Given the description of an element on the screen output the (x, y) to click on. 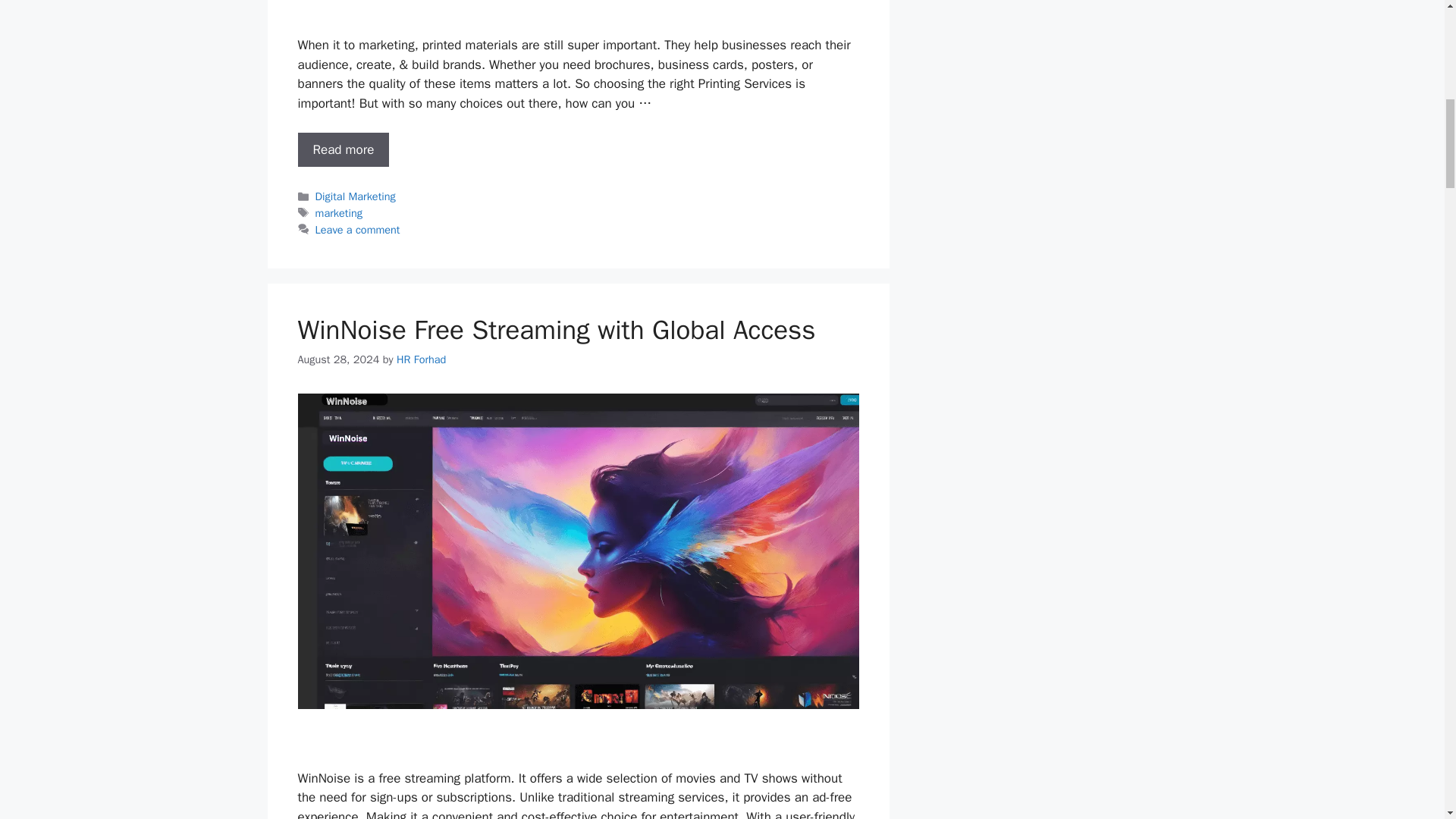
Digital Marketing (355, 196)
marketing (338, 213)
Read more (342, 149)
HR Forhad (420, 358)
WinNoise Free Streaming with Global Access (556, 329)
Leave a comment (357, 229)
View all posts by HR Forhad (420, 358)
